Given the description of an element on the screen output the (x, y) to click on. 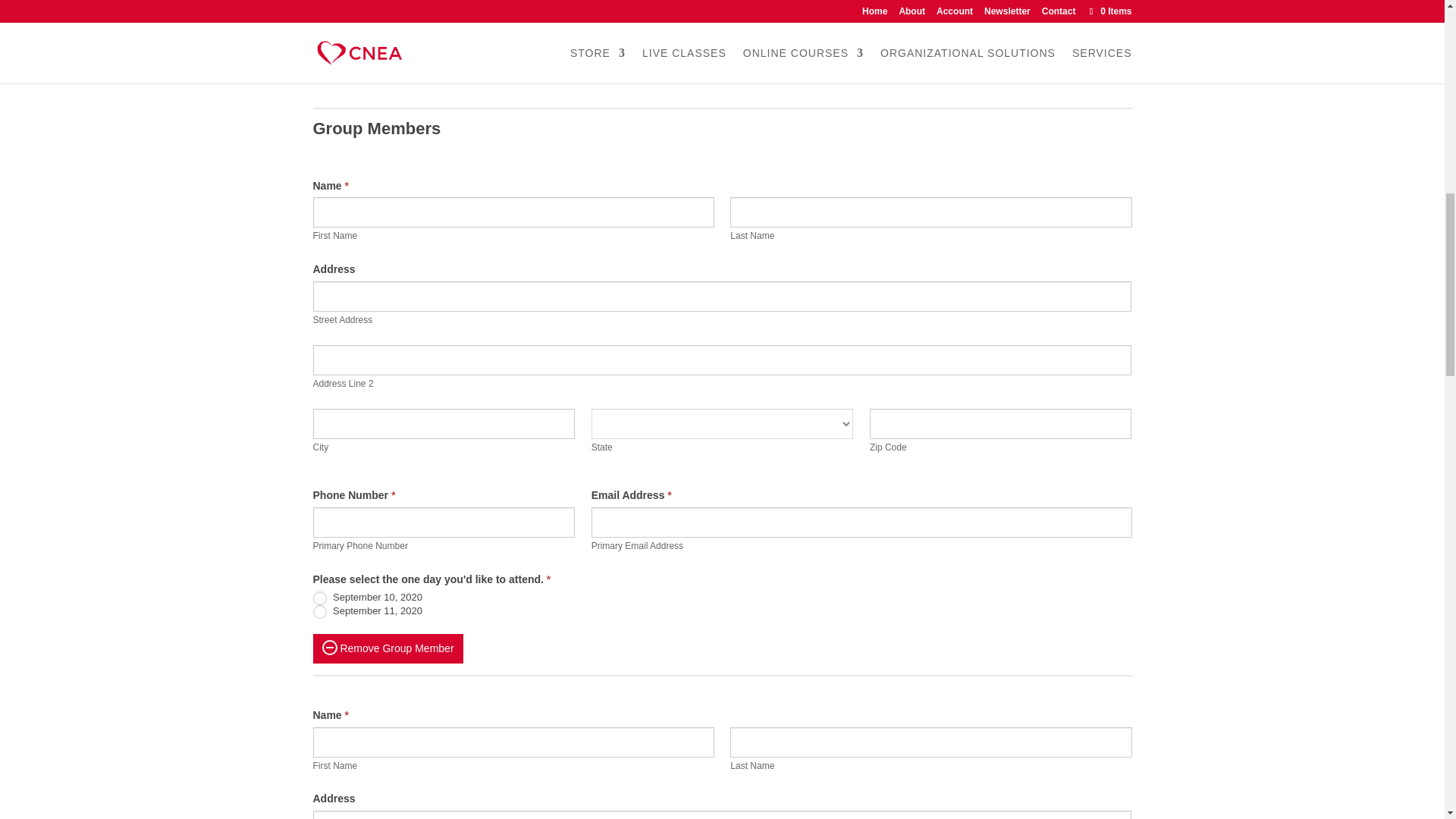
Remove Group Member (388, 648)
September 11, 2020 (319, 62)
September 10, 2020 (319, 49)
